Given the description of an element on the screen output the (x, y) to click on. 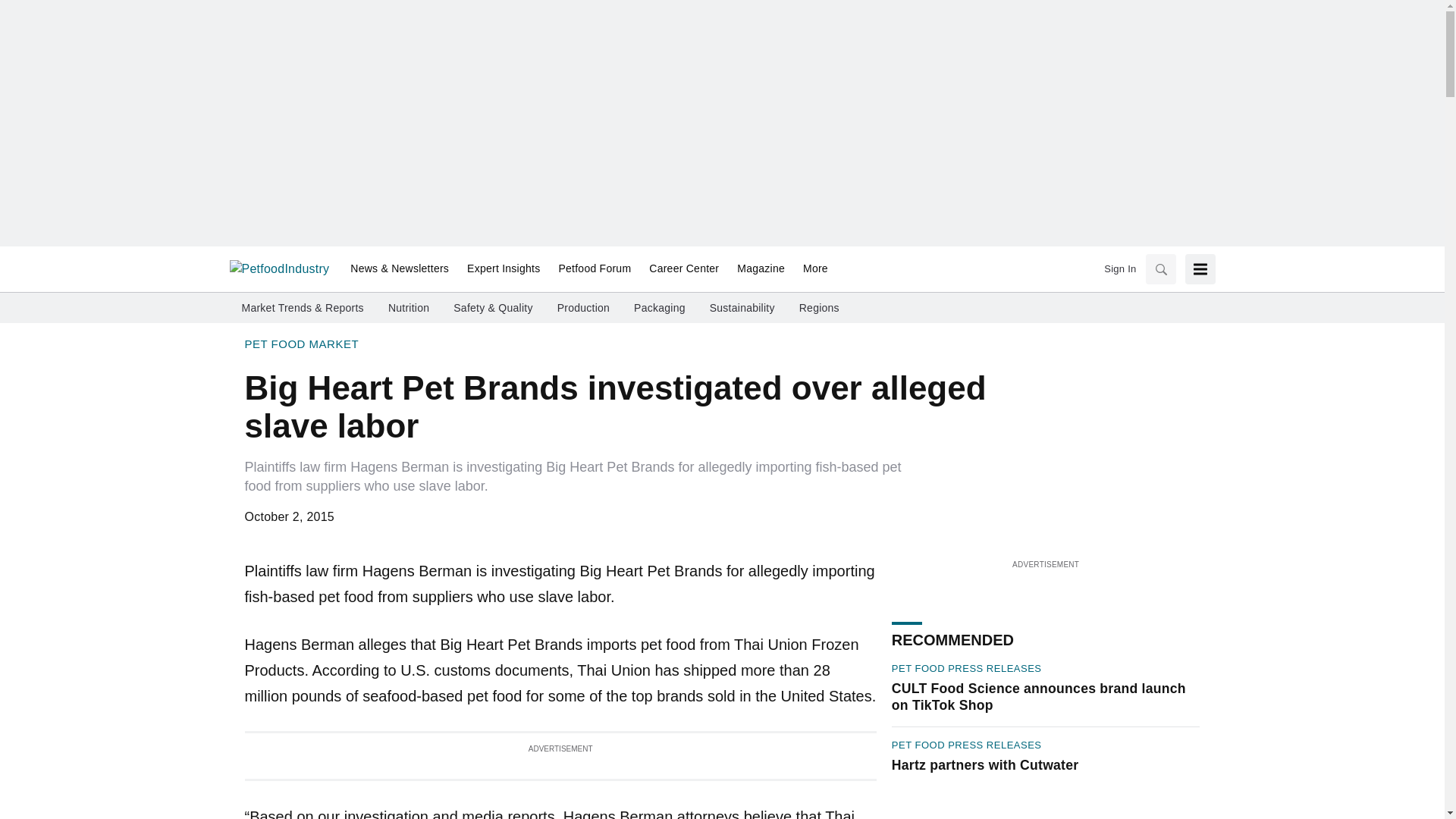
Nutrition (408, 307)
Sign In (1119, 268)
Petfood Forum (594, 269)
Production (583, 307)
Pet Food Market (301, 343)
Expert Insights (503, 269)
More (810, 269)
Career Center (684, 269)
Sustainability (742, 307)
Packaging (659, 307)
